Given the description of an element on the screen output the (x, y) to click on. 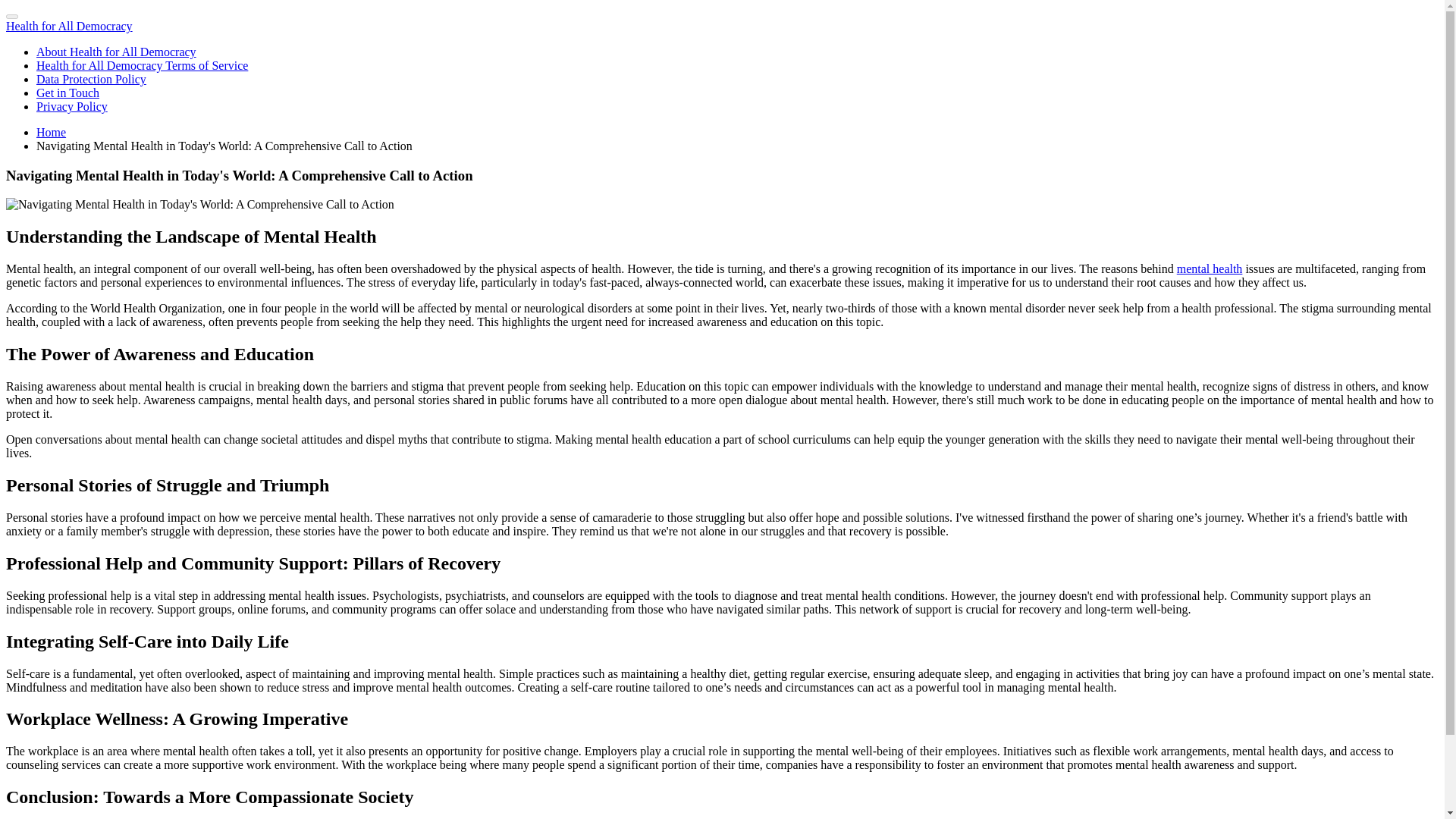
About Health for All Democracy (116, 51)
logo (68, 25)
Privacy Policy (71, 106)
Data Protection Policy (91, 78)
Get in Touch (67, 92)
mental health (1209, 268)
Health for All Democracy (68, 25)
Home (50, 132)
Health for All Democracy Terms of Service (141, 65)
